Given the description of an element on the screen output the (x, y) to click on. 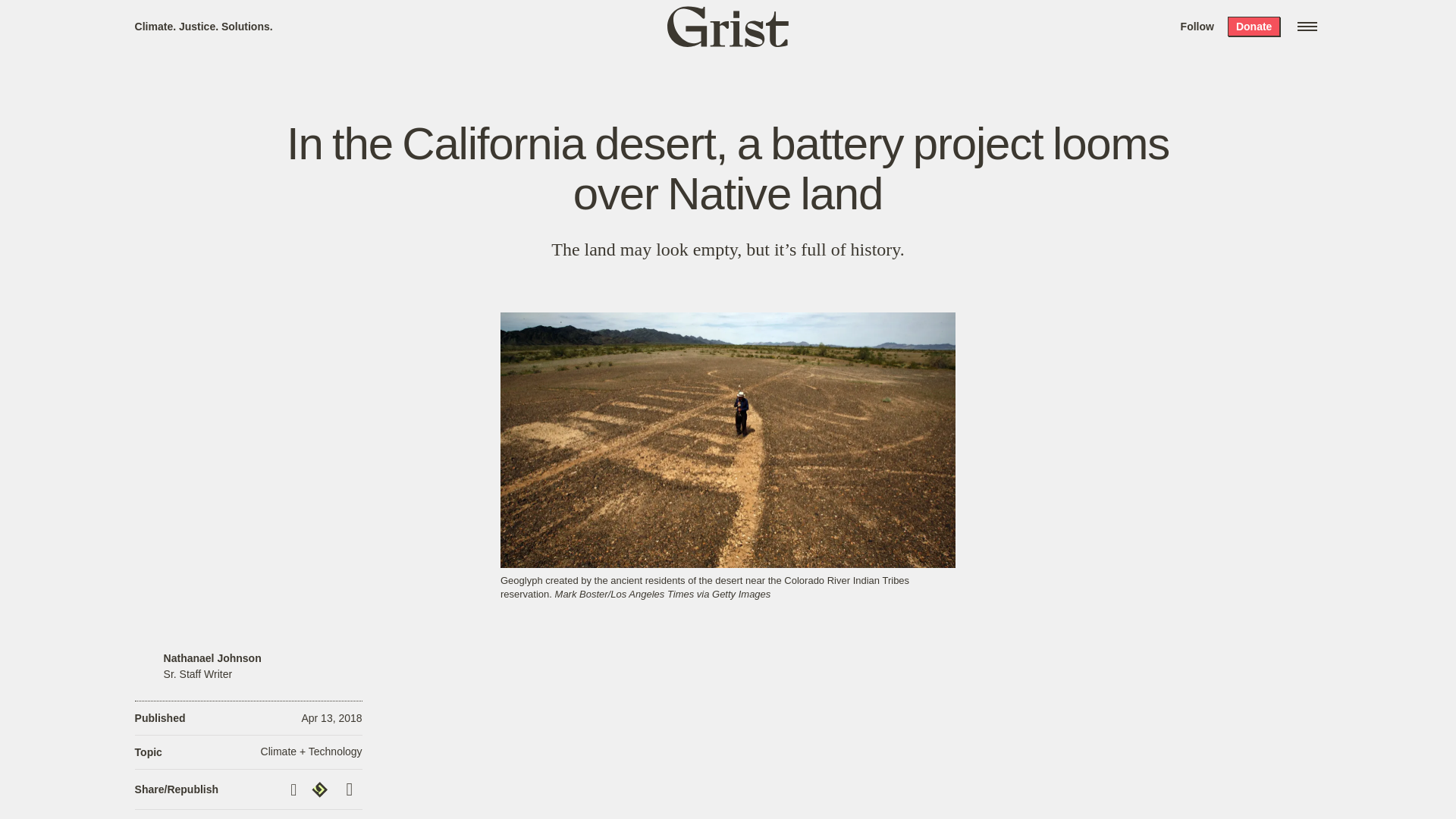
Search (227, 18)
Grist home (727, 25)
Follow (1197, 26)
Donate (1253, 26)
Copy article link (295, 789)
Republish the article (322, 789)
